Given the description of an element on the screen output the (x, y) to click on. 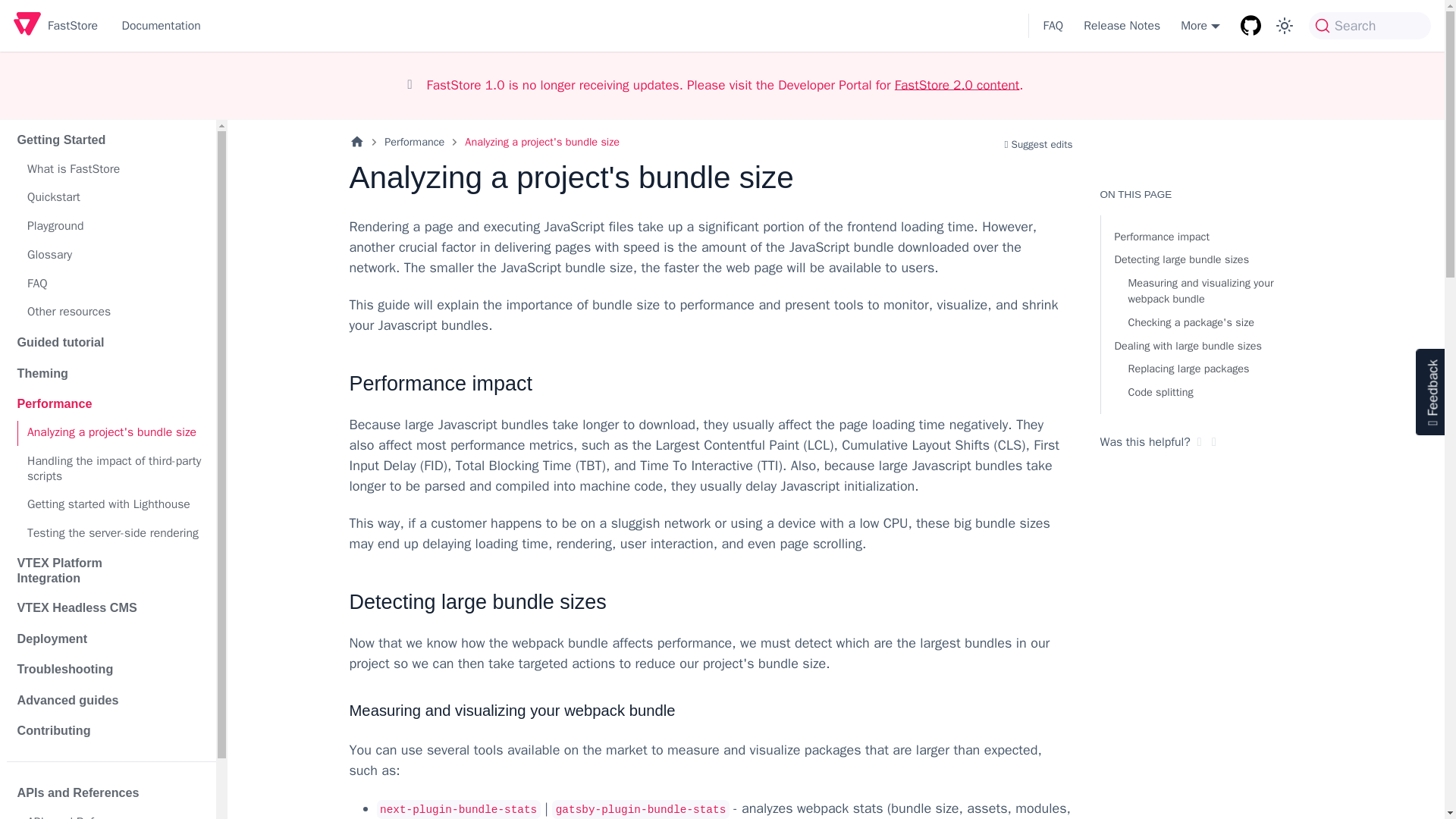
FAQ (115, 283)
Quickstart (115, 197)
More (1200, 25)
FAQ (1050, 25)
Troubleshooting (93, 669)
Analyzing a project's bundle size (115, 432)
Deployment (93, 637)
Other resources (115, 311)
FastStore 2.0 content (957, 84)
Getting started with Lighthouse (115, 505)
FastStore (55, 25)
Glossary (115, 254)
Release Notes (1122, 25)
VTEX Platform Integration (93, 569)
Search (1369, 25)
